Given the description of an element on the screen output the (x, y) to click on. 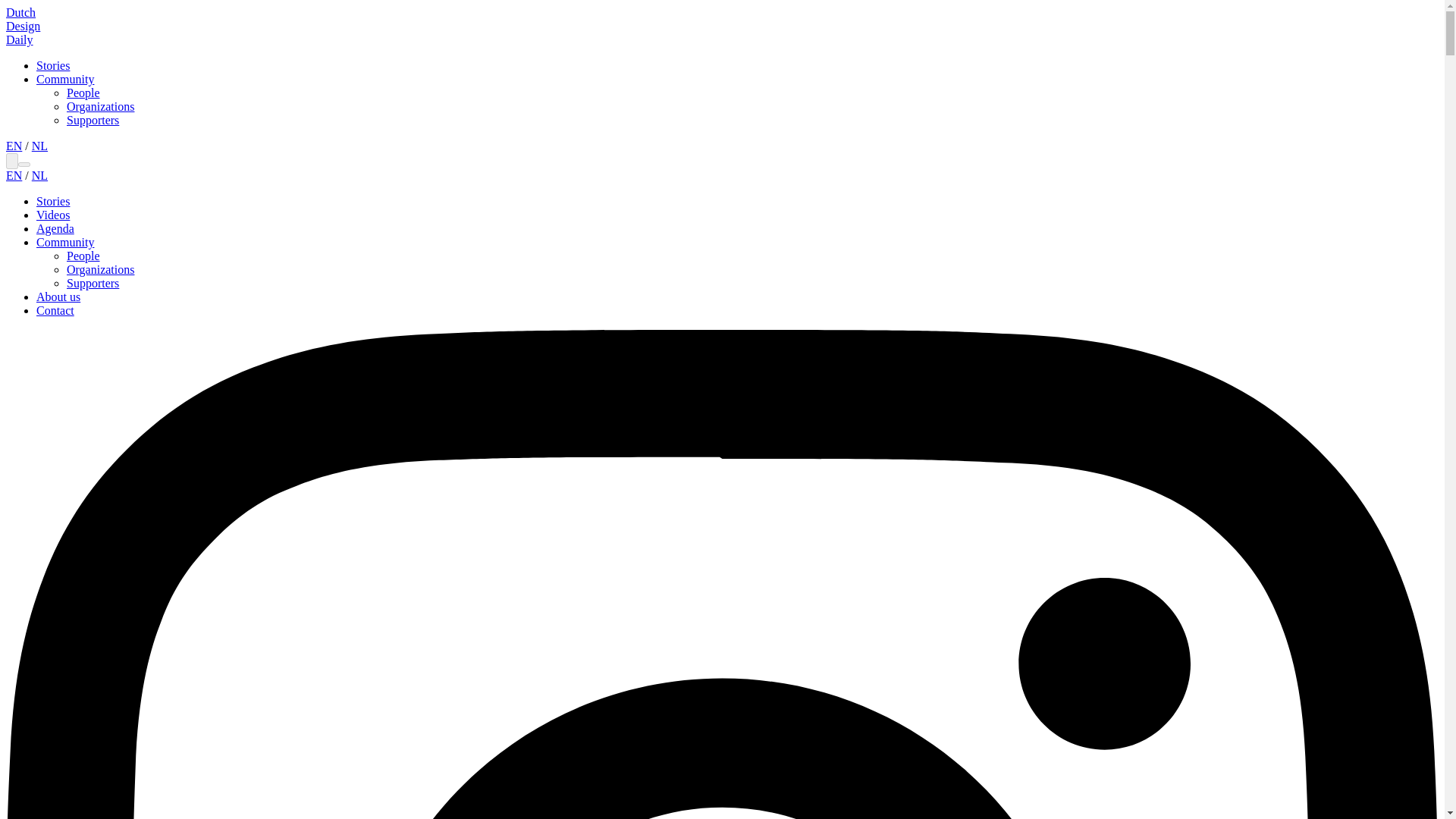
NL (40, 145)
Contact (55, 309)
EN (13, 174)
Agenda (55, 228)
EN (13, 145)
Stories (52, 65)
Videos (52, 214)
People (83, 92)
Organizations (99, 269)
Organizations (99, 106)
Supporters (92, 282)
Community (65, 241)
Supporters (92, 119)
People (83, 255)
